Given the description of an element on the screen output the (x, y) to click on. 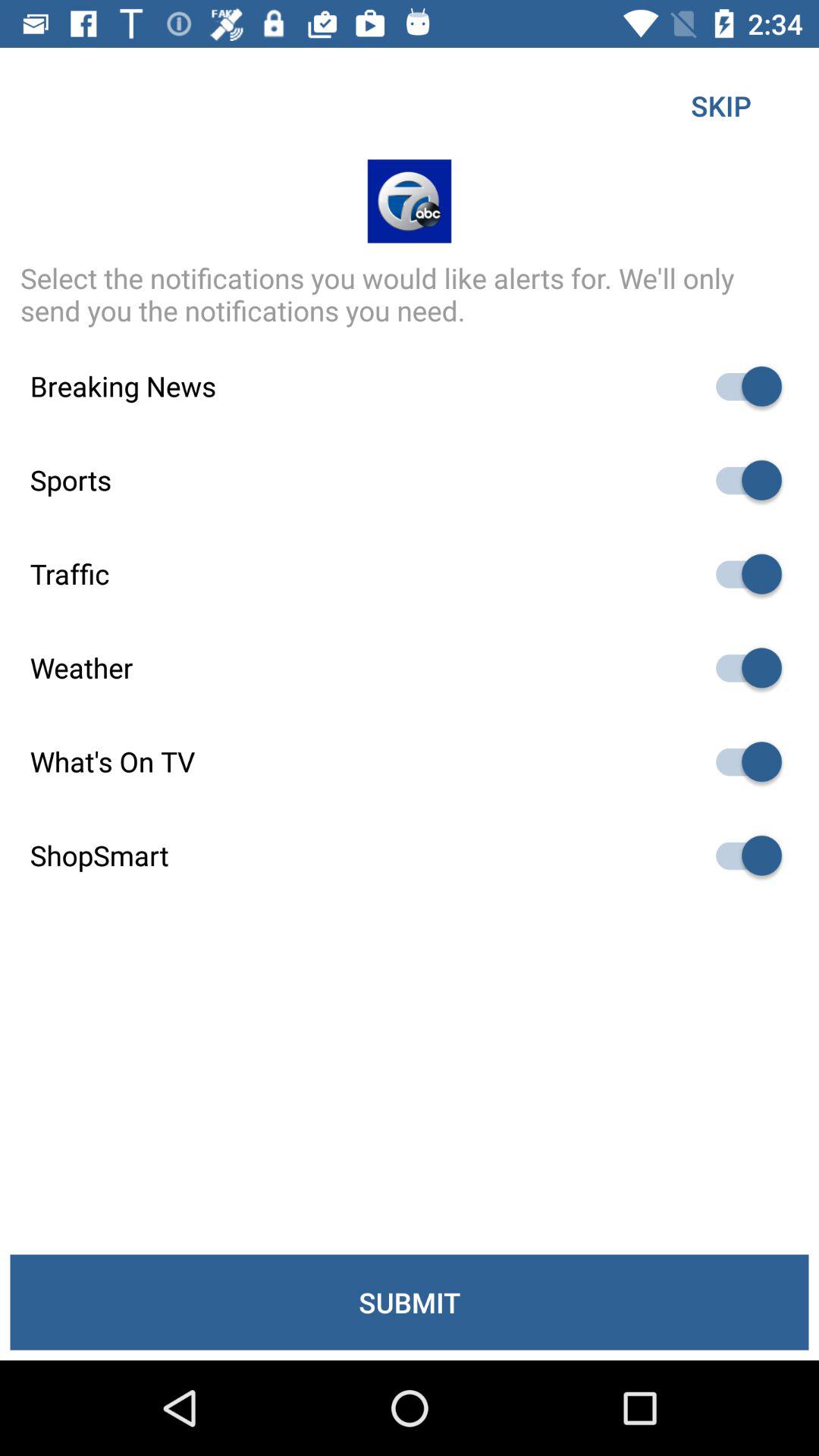
switch autoplay option (741, 855)
